Given the description of an element on the screen output the (x, y) to click on. 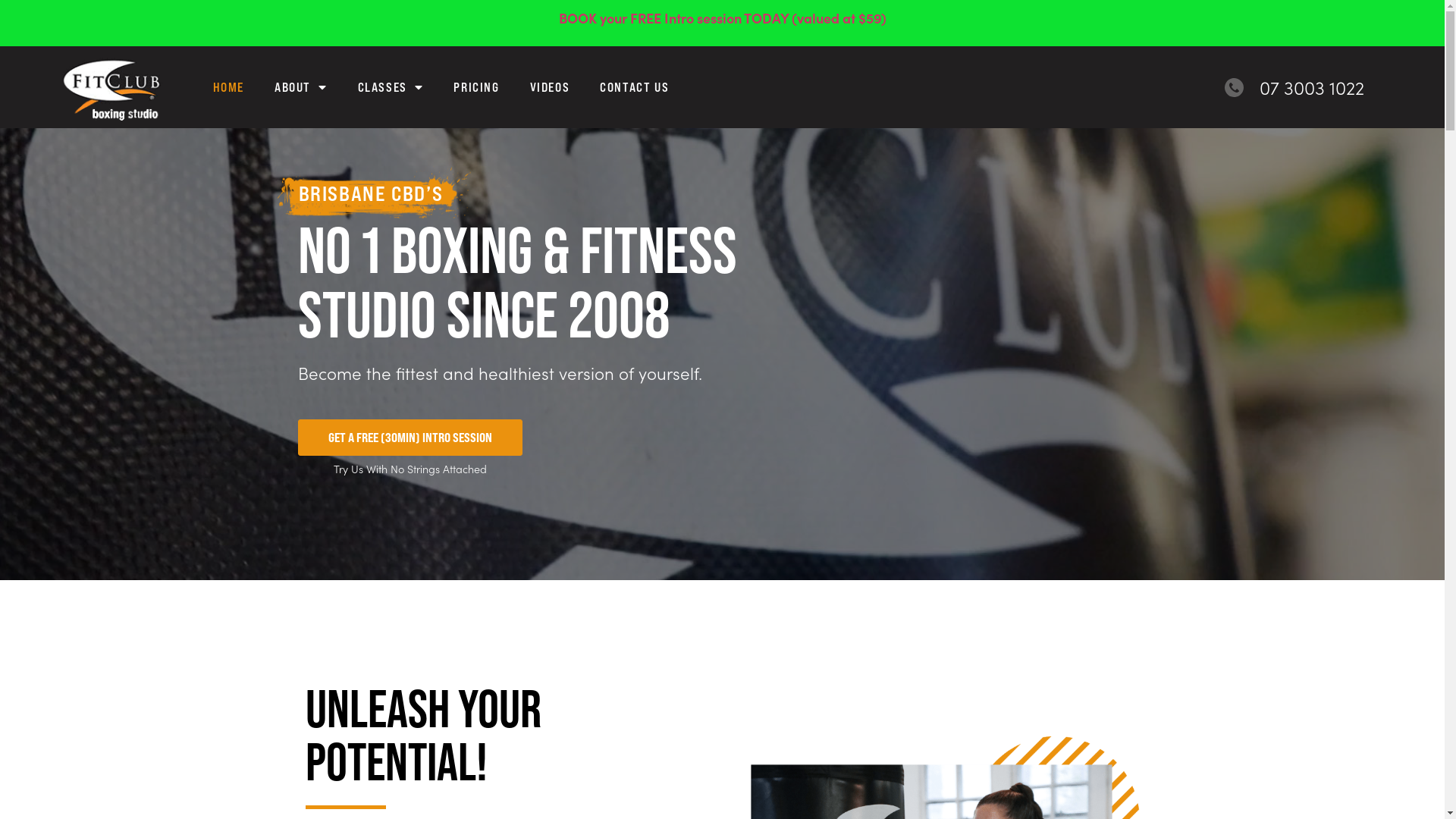
PRICING Element type: text (476, 86)
GET A FREE (30MIN) INTRO SESSION Element type: text (410, 437)
BOOK your FREE Intro session TODAY (valued at $59) Element type: text (721, 17)
07 3003 1022 Element type: text (1294, 86)
ABOUT Element type: text (300, 86)
CONTACT US Element type: text (634, 86)
HOME Element type: text (227, 86)
VIDEOS Element type: text (549, 86)
CLASSES Element type: text (390, 86)
